Given the description of an element on the screen output the (x, y) to click on. 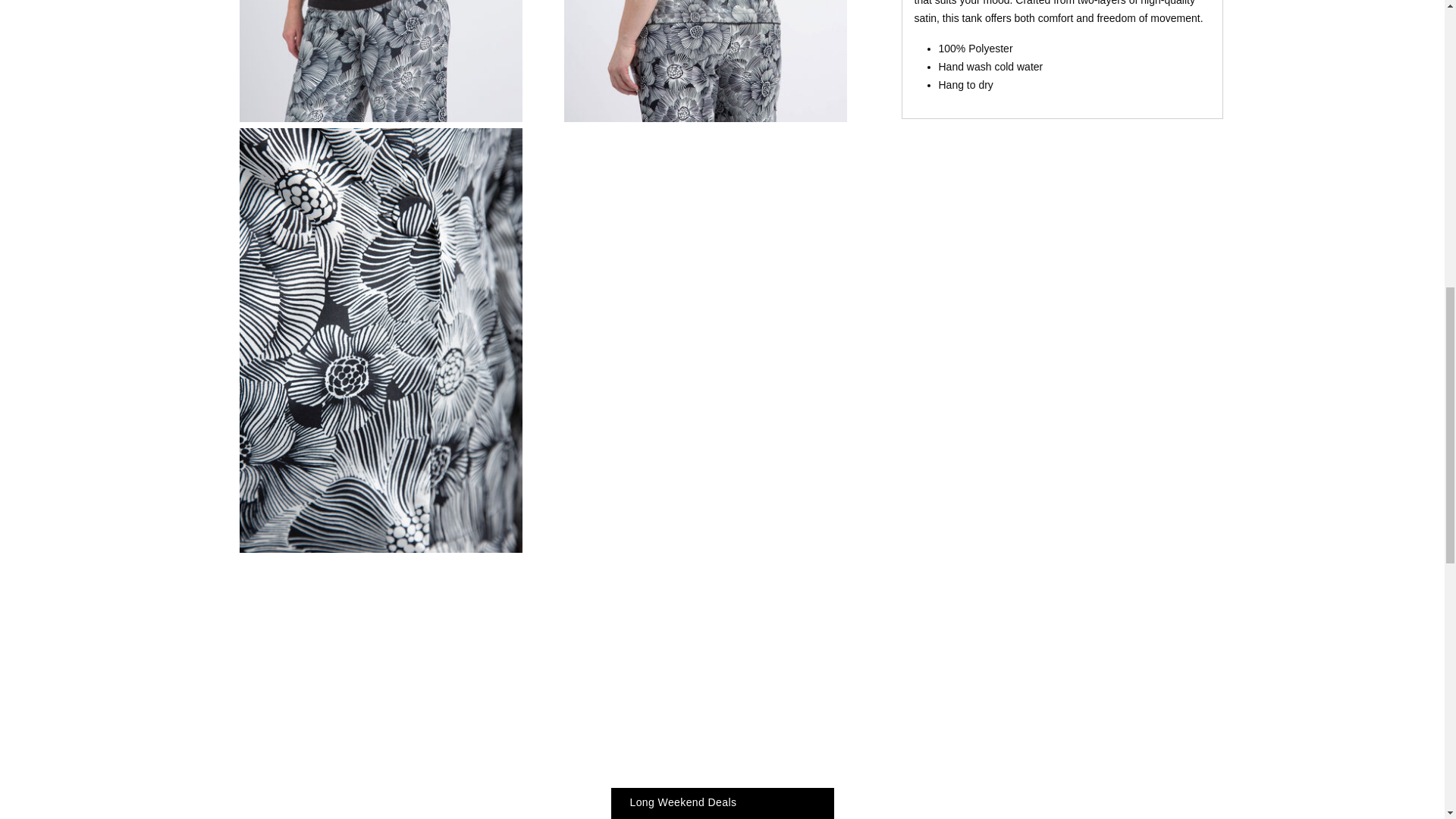
Reversible Satin Camisole (705, 61)
Reversible Satin Camisole (380, 61)
